Given the description of an element on the screen output the (x, y) to click on. 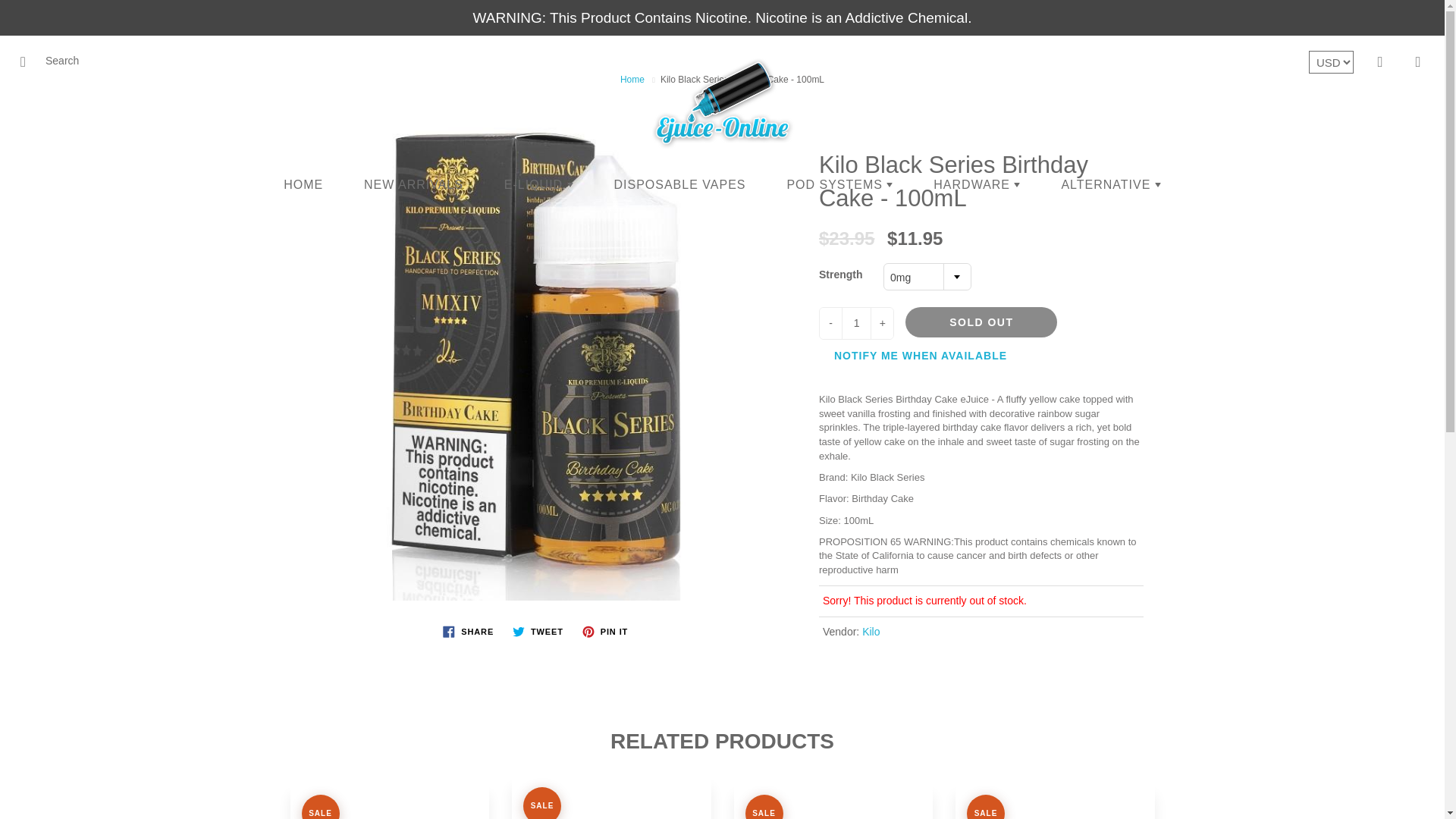
NEW ARRIVALS (413, 184)
Search (28, 61)
Pin on Pinterest (604, 631)
Tweet on Twitter (537, 631)
Kilo (870, 631)
E-LIQUID (538, 184)
0mg (927, 277)
Home (632, 79)
HOME (303, 184)
